Given the description of an element on the screen output the (x, y) to click on. 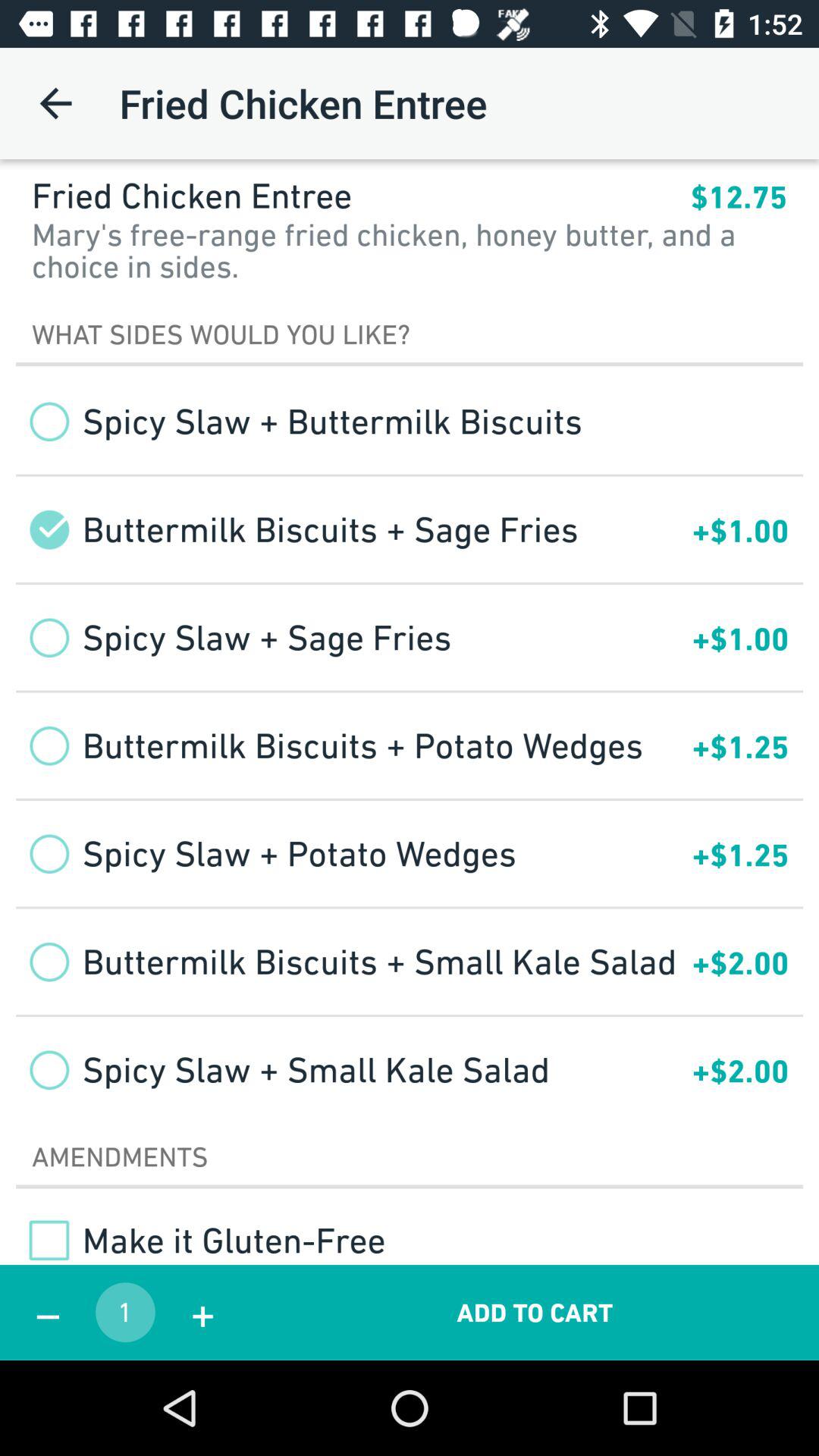
launch app below the amendments item (200, 1239)
